Given the description of an element on the screen output the (x, y) to click on. 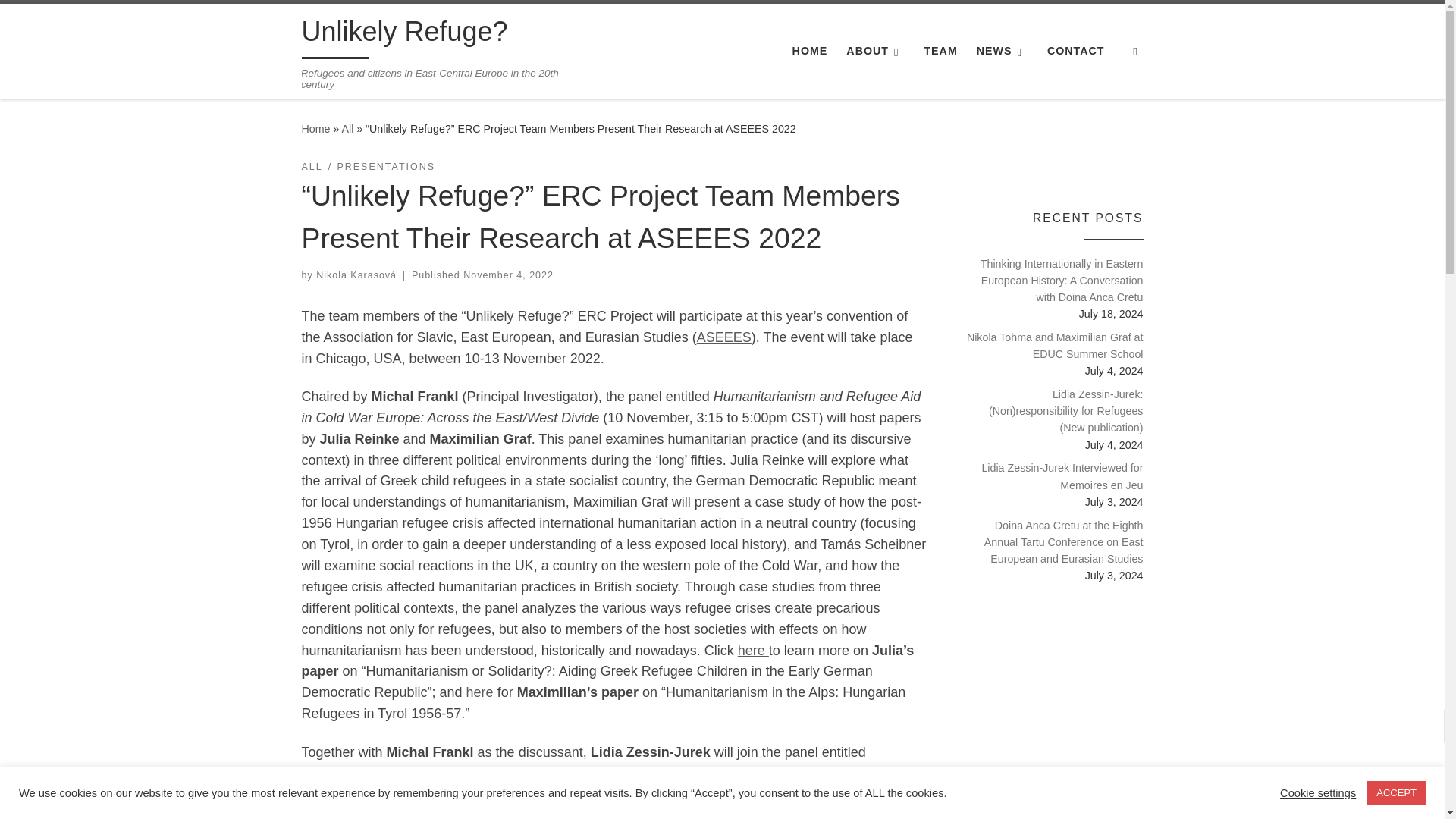
Skip to content (60, 20)
TEAM (940, 50)
HOME (809, 50)
CONTACT (1075, 50)
12:01 pm (508, 275)
Unlikely Refuge? (315, 128)
View all posts in All (312, 166)
Search (1135, 50)
View all posts in Presentations (385, 166)
Home (315, 128)
All (347, 128)
ABOUT (875, 50)
NEWS (1002, 50)
Unlikely Refuge? (404, 34)
